Given the description of an element on the screen output the (x, y) to click on. 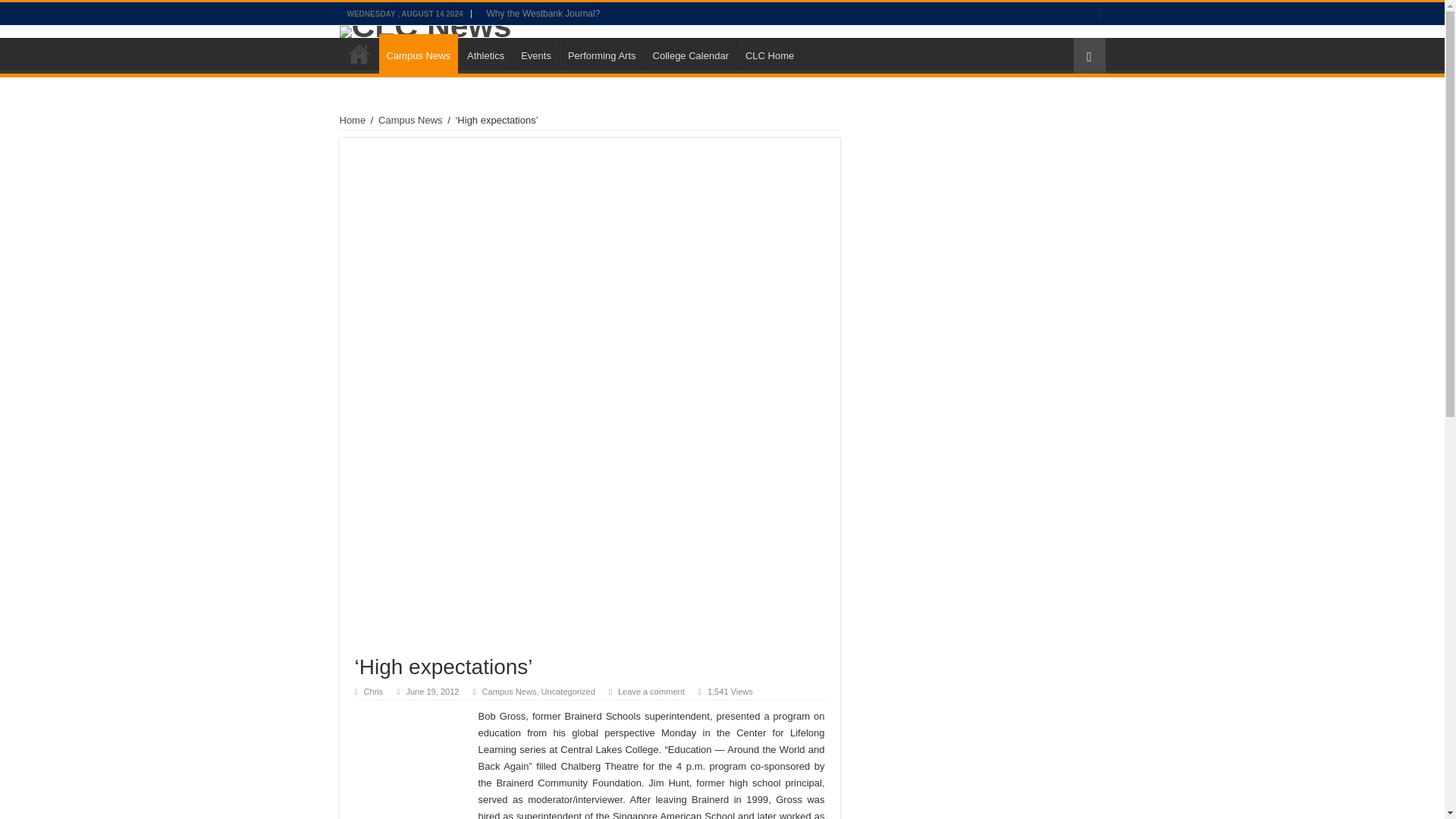
Events (535, 53)
CLC Home (769, 53)
Campus News (509, 691)
CLC News (722, 31)
Random Article (1089, 55)
WBJ Home (358, 53)
Campus News (418, 53)
Performing Arts (601, 53)
Chris (374, 691)
Campus News (410, 120)
